Given the description of an element on the screen output the (x, y) to click on. 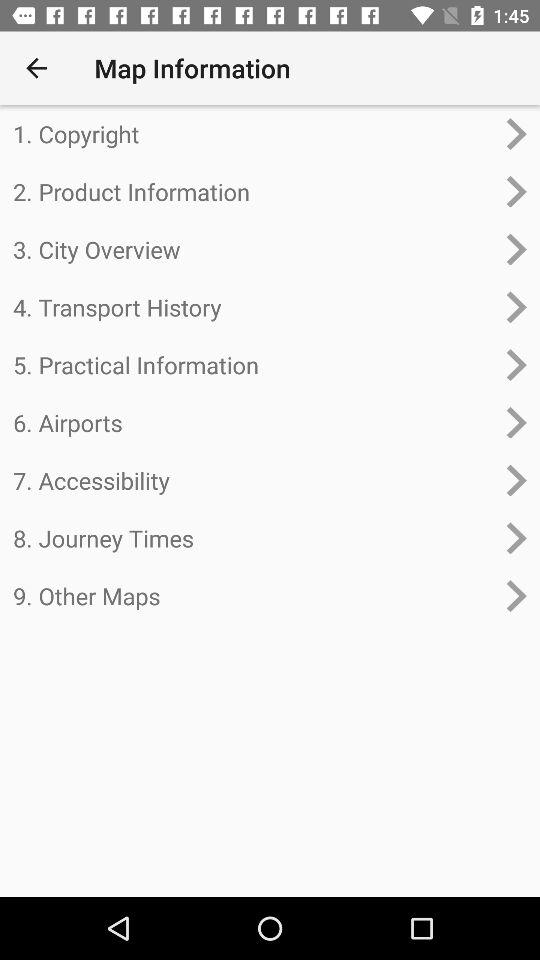
click the icon below 5. practical information item (253, 422)
